Given the description of an element on the screen output the (x, y) to click on. 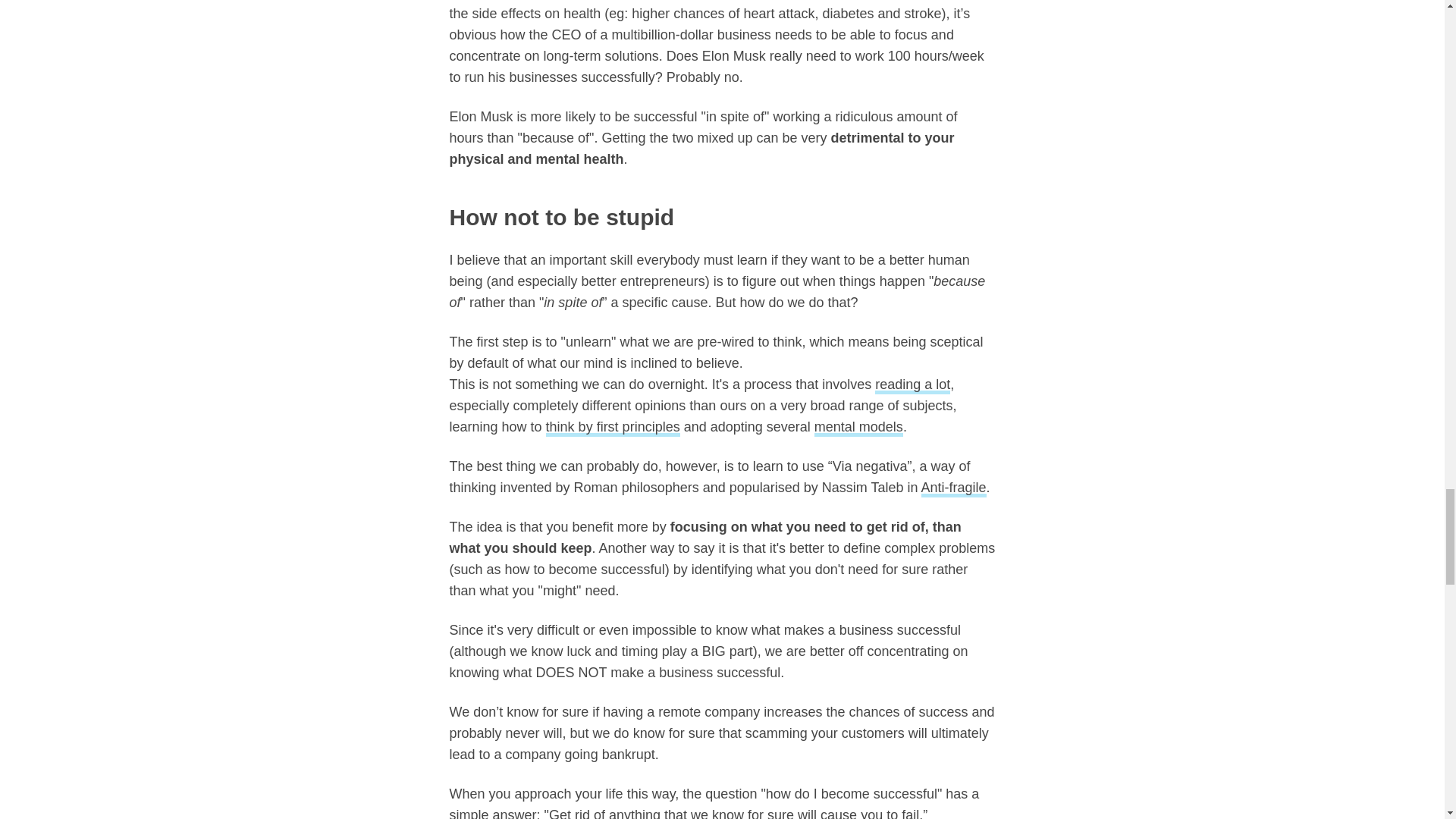
mental models (857, 427)
reading a lot (912, 384)
think by first principles (612, 427)
Anti-fragile (954, 488)
